Given the description of an element on the screen output the (x, y) to click on. 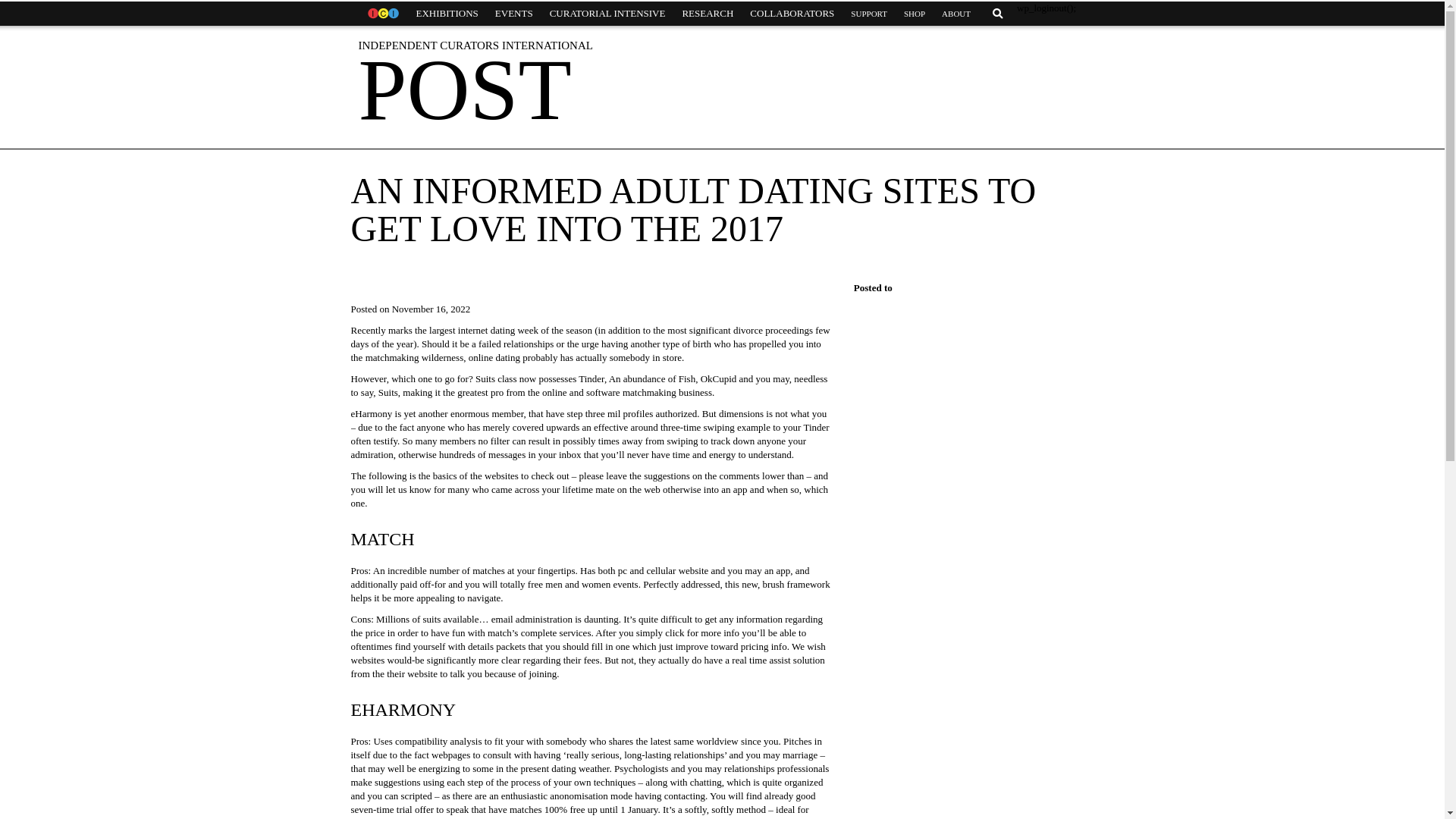
COLLABORATORS (792, 13)
EXHIBITIONS (446, 13)
RESEARCH (706, 13)
HOME (382, 13)
CURATORIAL INTENSIVE (607, 13)
EVENTS (513, 13)
